Given the description of an element on the screen output the (x, y) to click on. 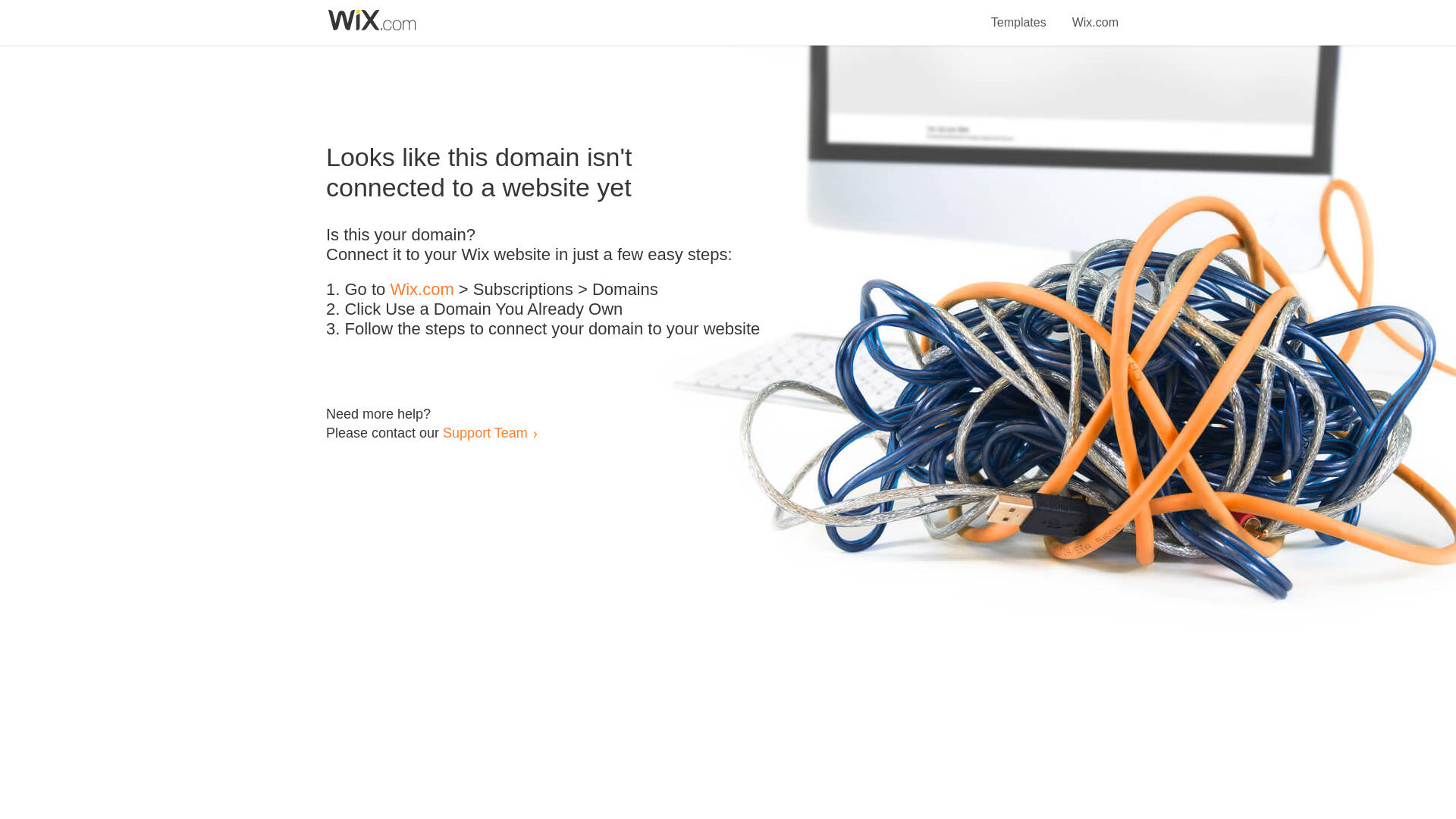
Templates (1018, 14)
Support Team (484, 432)
Wix.com (1095, 14)
Wix.com (421, 289)
